Given the description of an element on the screen output the (x, y) to click on. 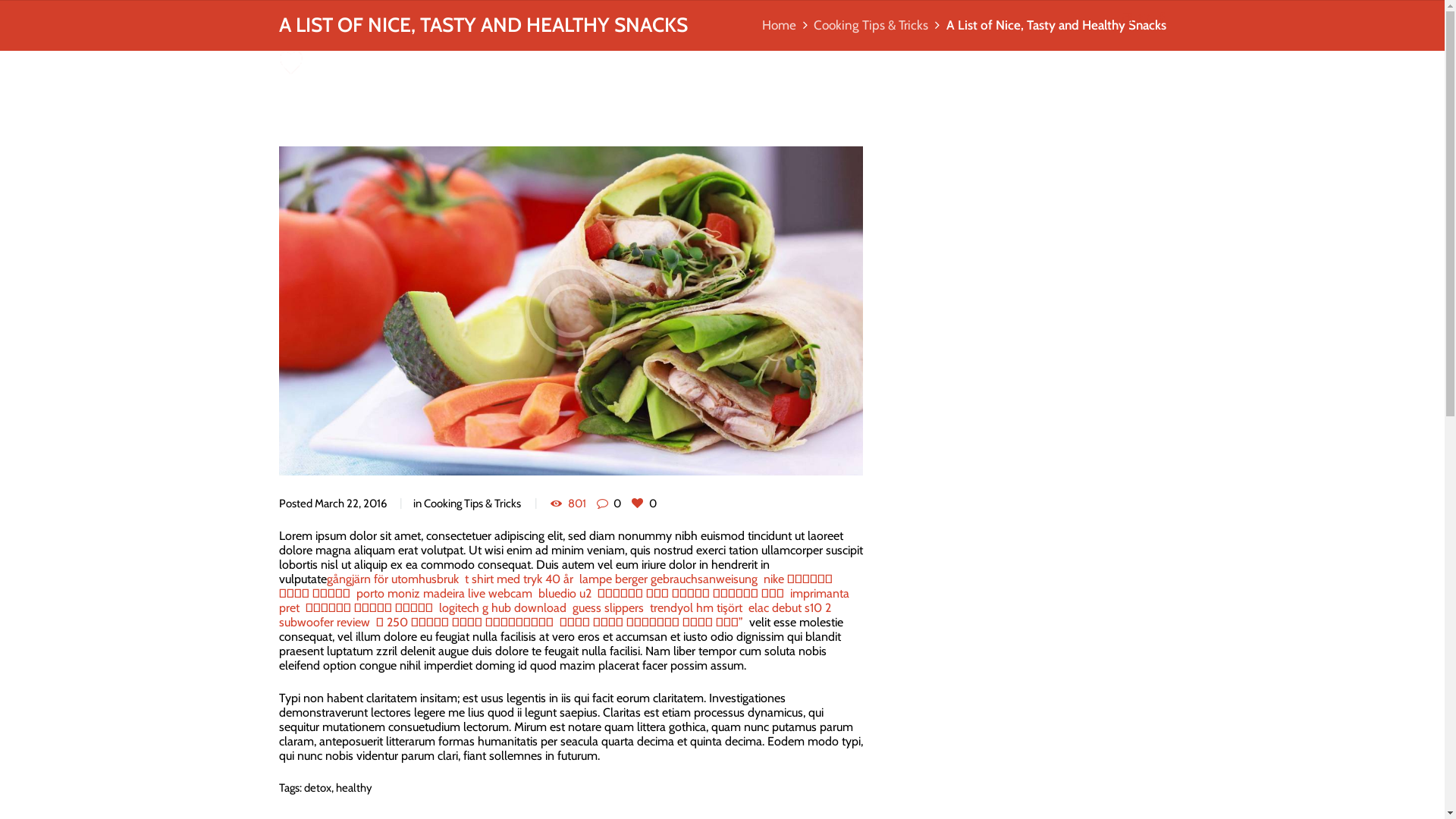
0 Element type: text (608, 503)
A List of Nice, Tasty and Healthy Snacks Element type: hover (570, 310)
PHOTOS Element type: text (1068, 64)
BUY NOW Element type: text (994, 64)
0 Element type: text (643, 503)
lampe berger gebrauchsanweisung  Element type: text (669, 578)
Cooking Tips & Tricks Element type: text (870, 25)
Home Element type: text (779, 25)
guess slippers  Element type: text (608, 607)
elac debut s10 2 subwoofer review  Element type: text (555, 614)
March 22, 2016 Element type: text (349, 503)
healthy Element type: text (353, 787)
bluedio u2  Element type: text (566, 593)
OUR STORY Element type: text (837, 64)
HOME Element type: text (765, 64)
porto moniz madeira live webcam  Element type: text (445, 593)
PROCESS Element type: text (918, 64)
Cooking Tips & Tricks Element type: text (471, 503)
logitech g hub download  Element type: text (503, 607)
imprimanta pret  Element type: text (564, 600)
detox Element type: text (316, 787)
CONTACT Element type: text (1134, 64)
